Given the description of an element on the screen output the (x, y) to click on. 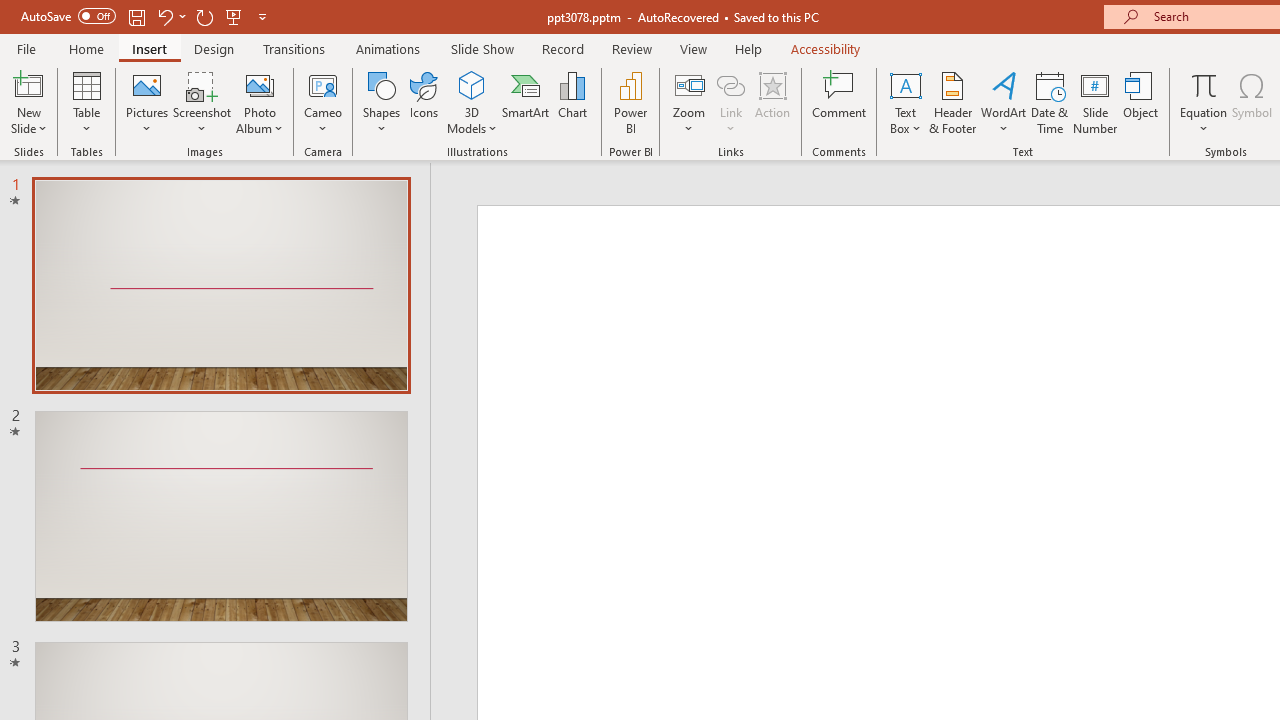
Table (86, 102)
Screenshot (202, 102)
Photo Album... (259, 102)
SmartArt... (525, 102)
